Given the description of an element on the screen output the (x, y) to click on. 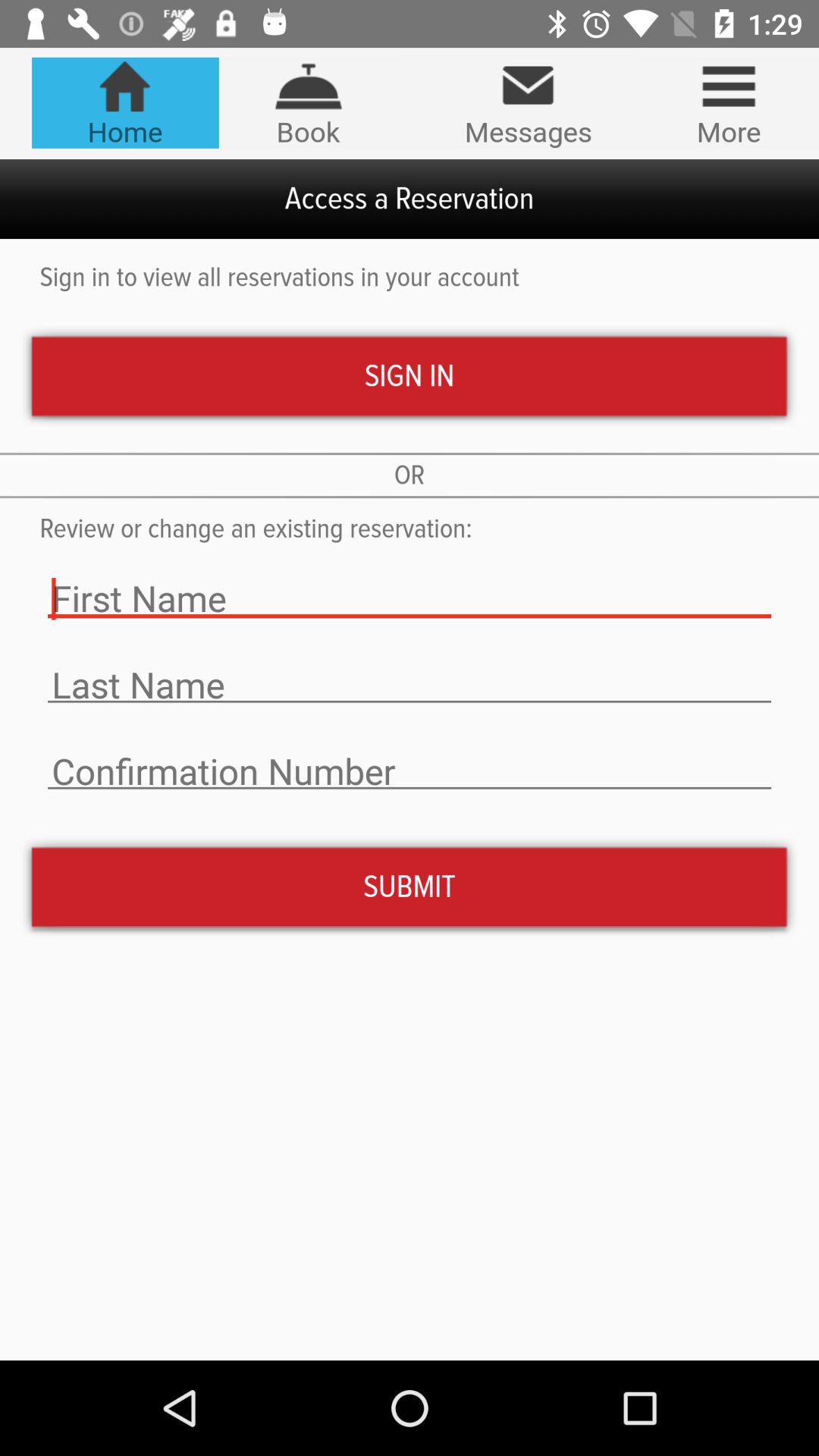
click the home icon (124, 102)
